Given the description of an element on the screen output the (x, y) to click on. 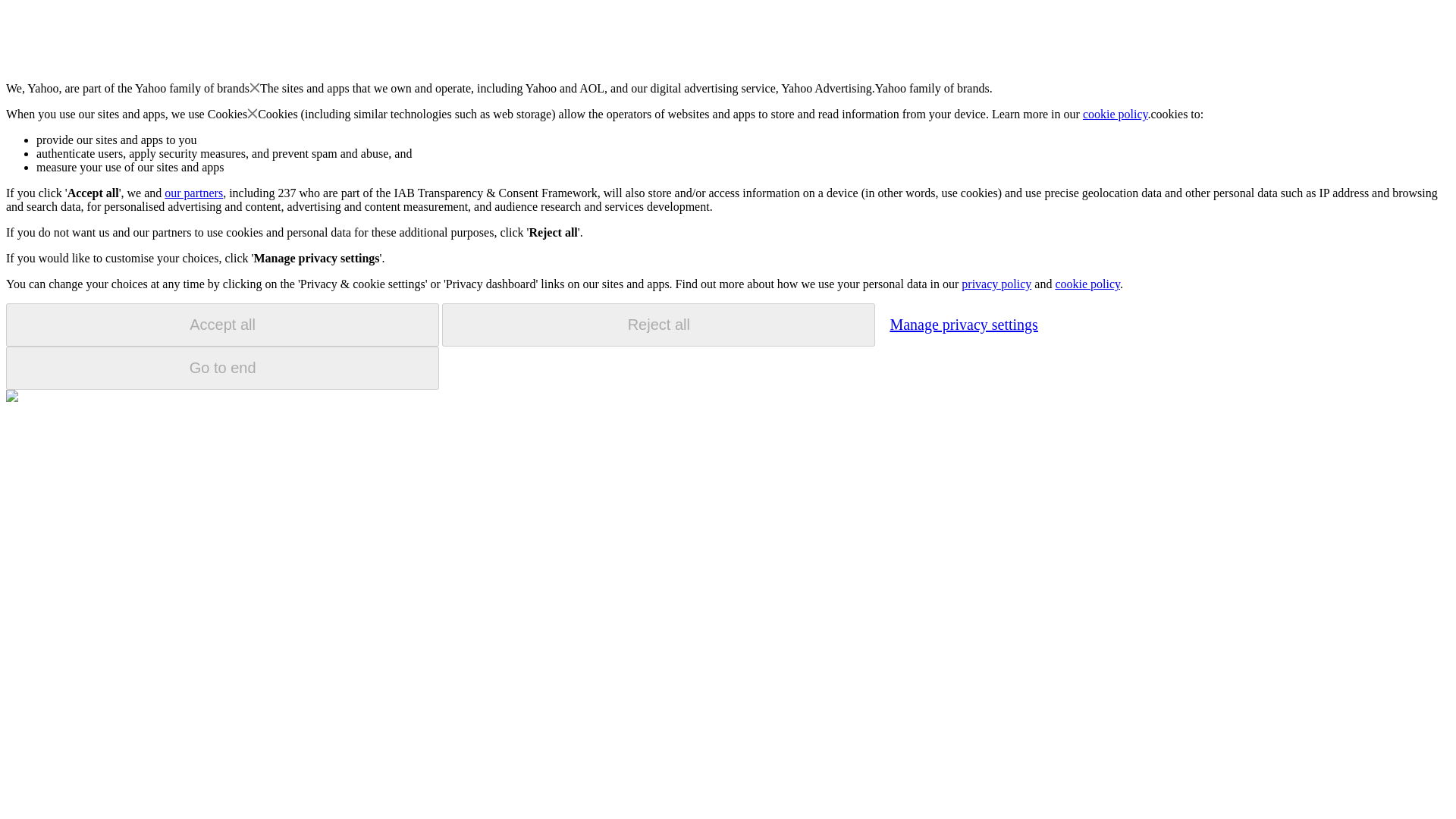
privacy policy (995, 283)
Manage privacy settings (963, 323)
cookie policy (1115, 113)
cookie policy (1086, 283)
our partners (193, 192)
Accept all (222, 324)
Go to end (222, 367)
Reject all (658, 324)
